Given the description of an element on the screen output the (x, y) to click on. 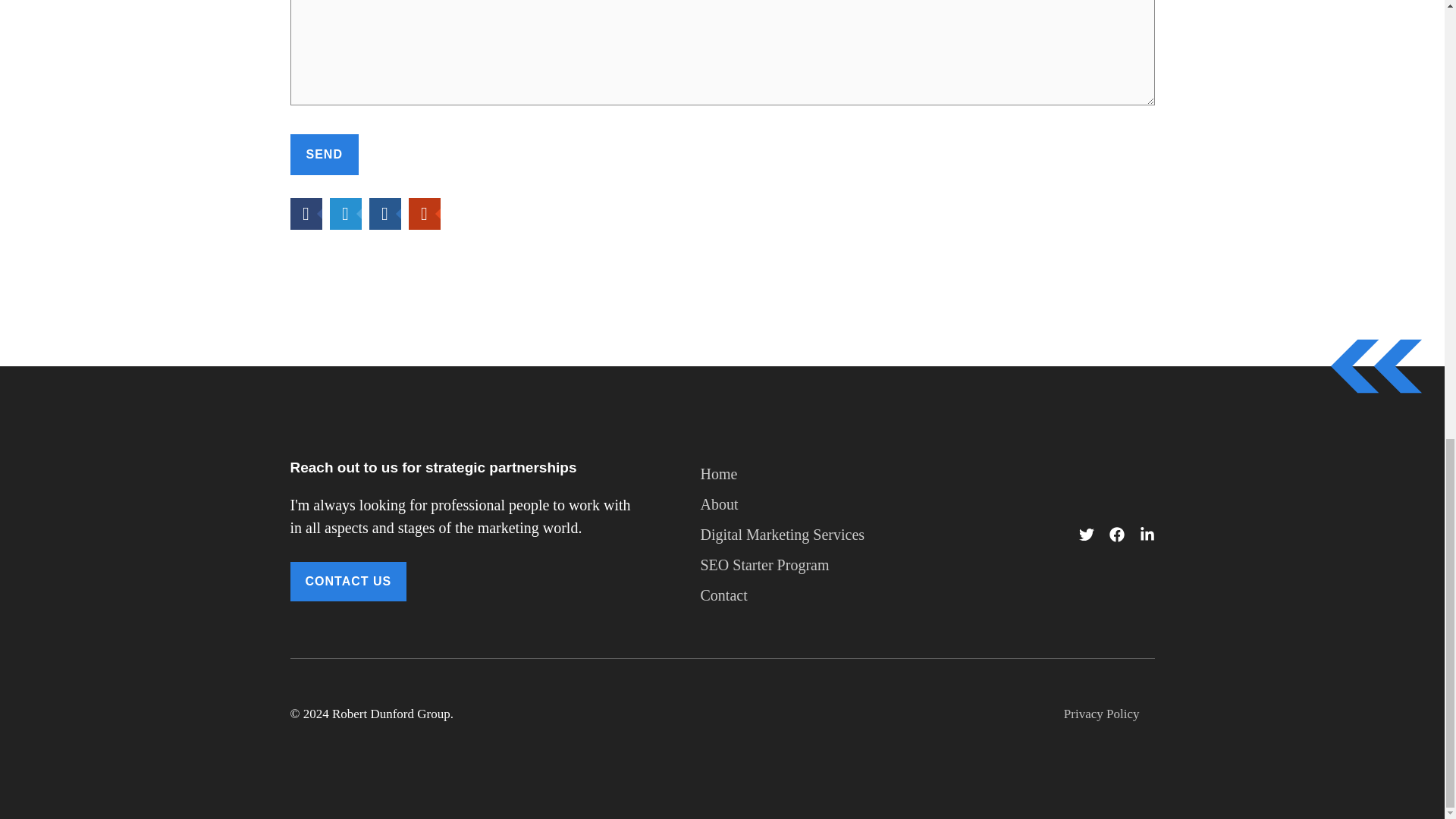
Scroll back to top (1406, 590)
Privacy Policy (1102, 713)
Home (719, 473)
Contact (724, 594)
Digital Marketing Services (782, 534)
About (719, 504)
Send (323, 154)
Send (323, 154)
SEO Starter Program (764, 564)
CONTACT US (347, 581)
